Given the description of an element on the screen output the (x, y) to click on. 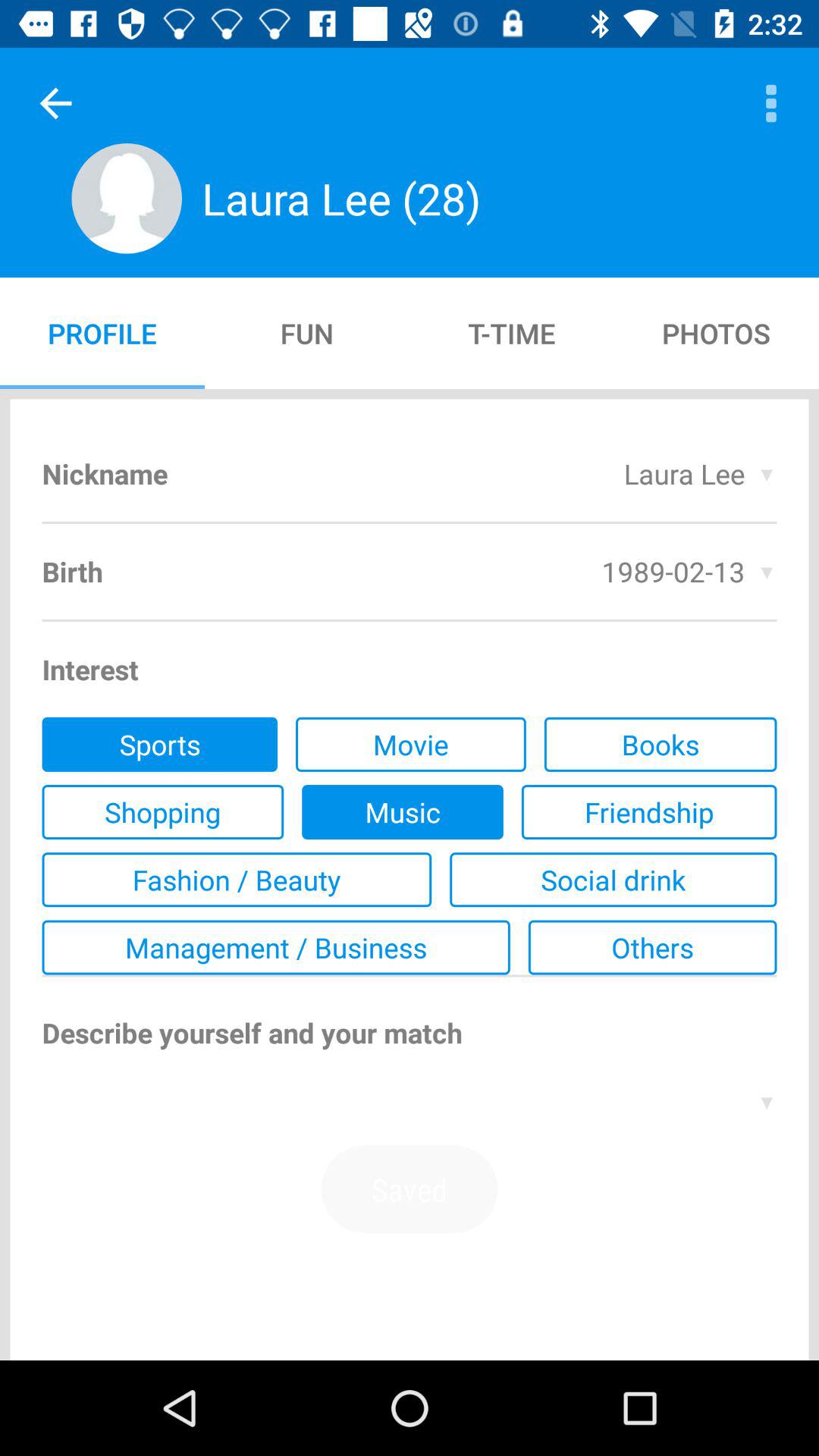
launch the item to the right of management / business icon (652, 947)
